Given the description of an element on the screen output the (x, y) to click on. 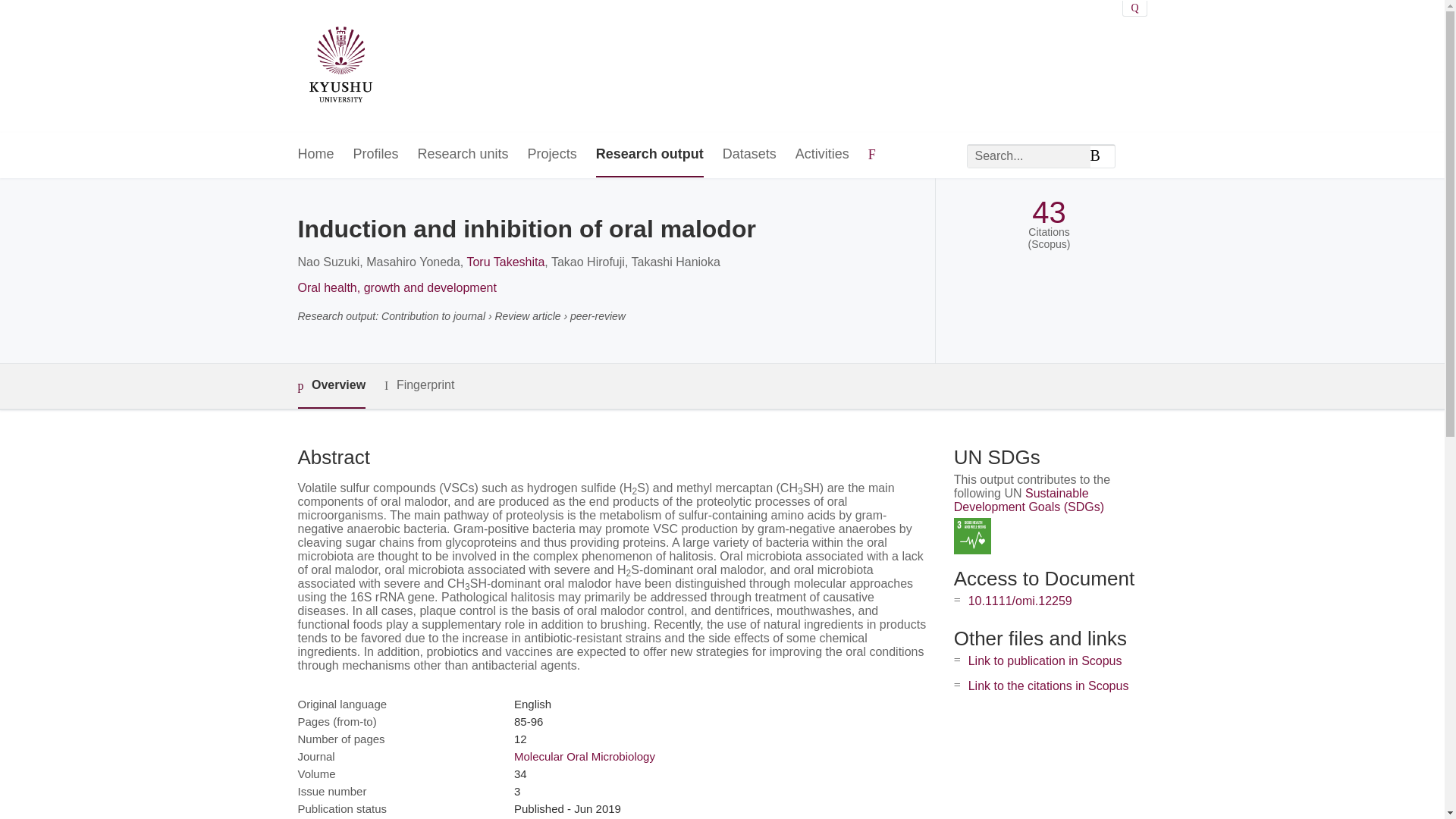
43 (1048, 212)
Overview (331, 385)
Toru Takeshita (504, 261)
Oral health, growth and development (396, 287)
Profiles (375, 154)
Molecular Oral Microbiology (584, 756)
Fingerprint (419, 385)
Research output (649, 154)
Datasets (749, 154)
Research units (462, 154)
